Given the description of an element on the screen output the (x, y) to click on. 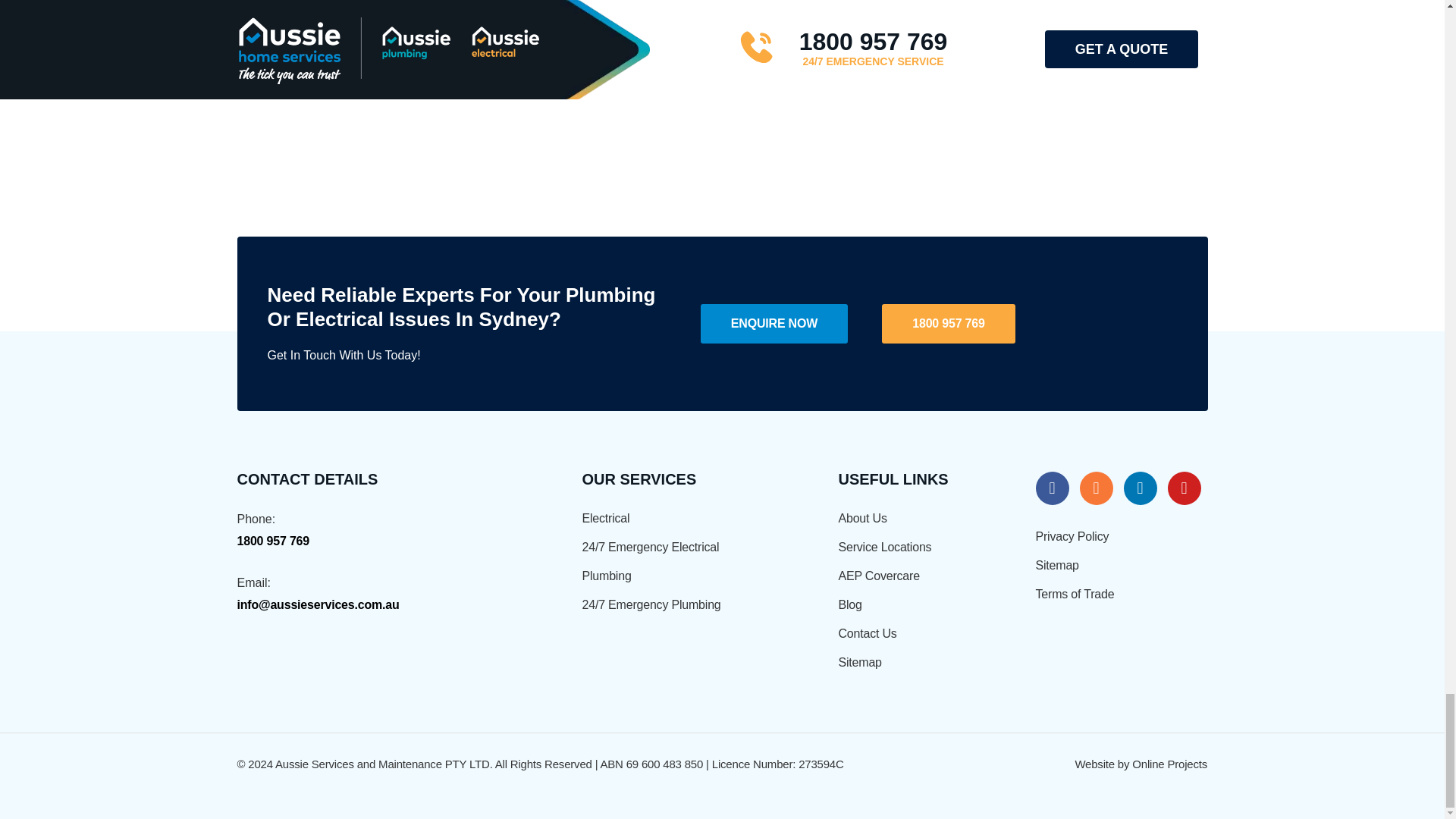
Box Hill, Sydney (721, 69)
